Given the description of an element on the screen output the (x, y) to click on. 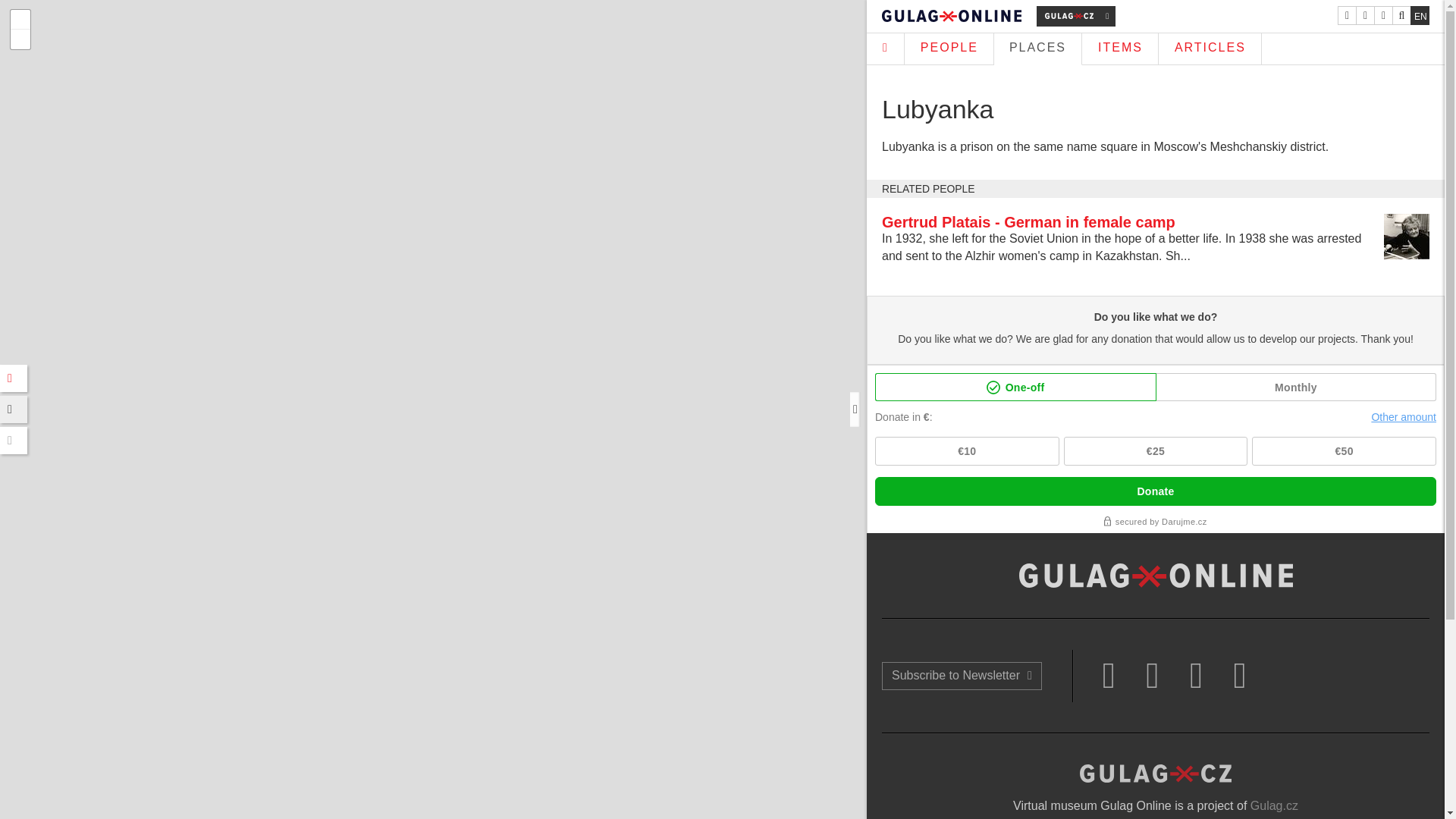
- (20, 39)
Zoom in (20, 19)
Zoom out (20, 39)
